Given the description of an element on the screen output the (x, y) to click on. 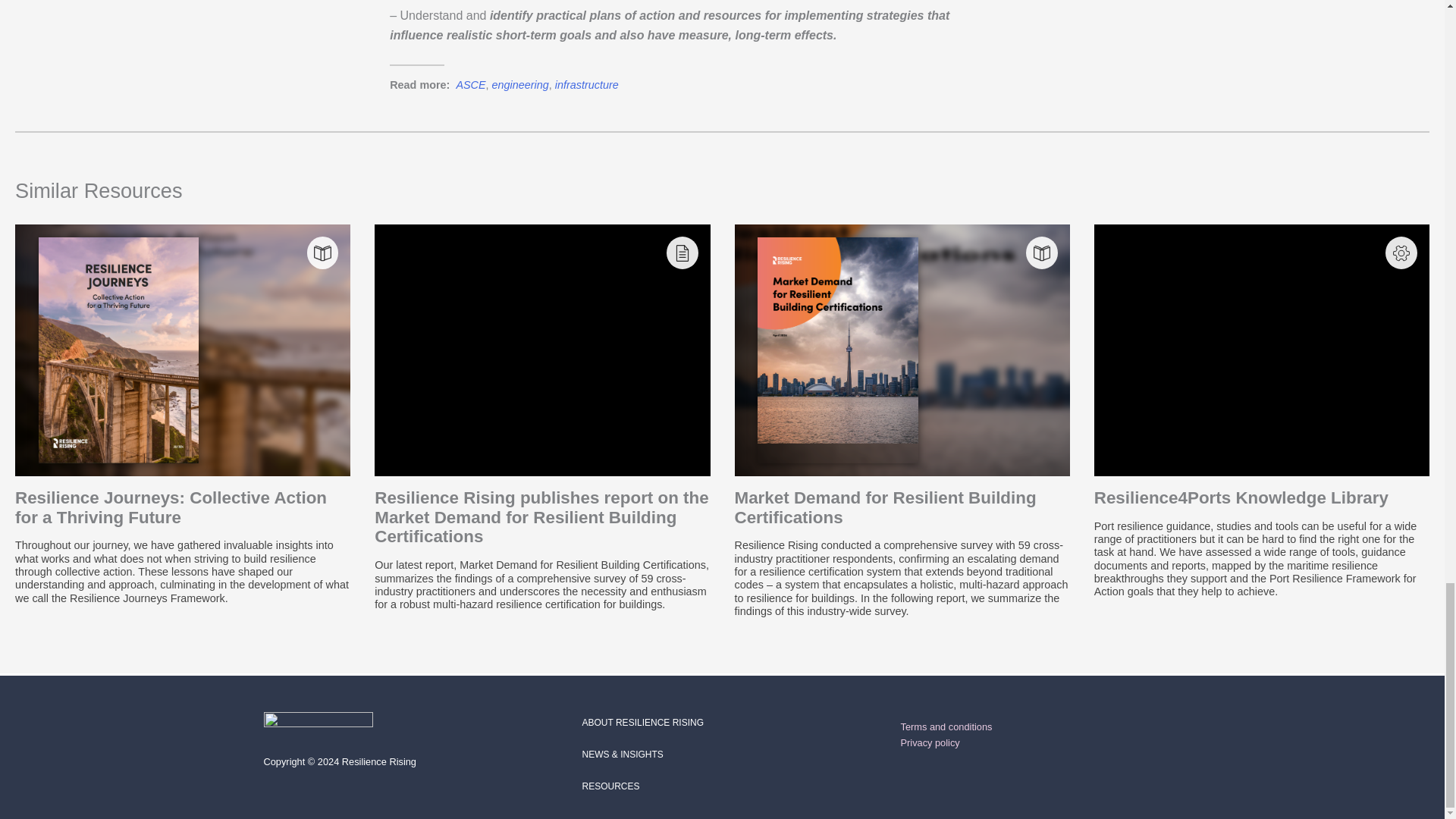
RESOURCES (611, 786)
Terms and conditions (946, 726)
engineering (520, 84)
infrastructure (586, 84)
ASCE (469, 84)
ABOUT RESILIENCE RISING (642, 722)
Privacy policy (930, 742)
